Given the description of an element on the screen output the (x, y) to click on. 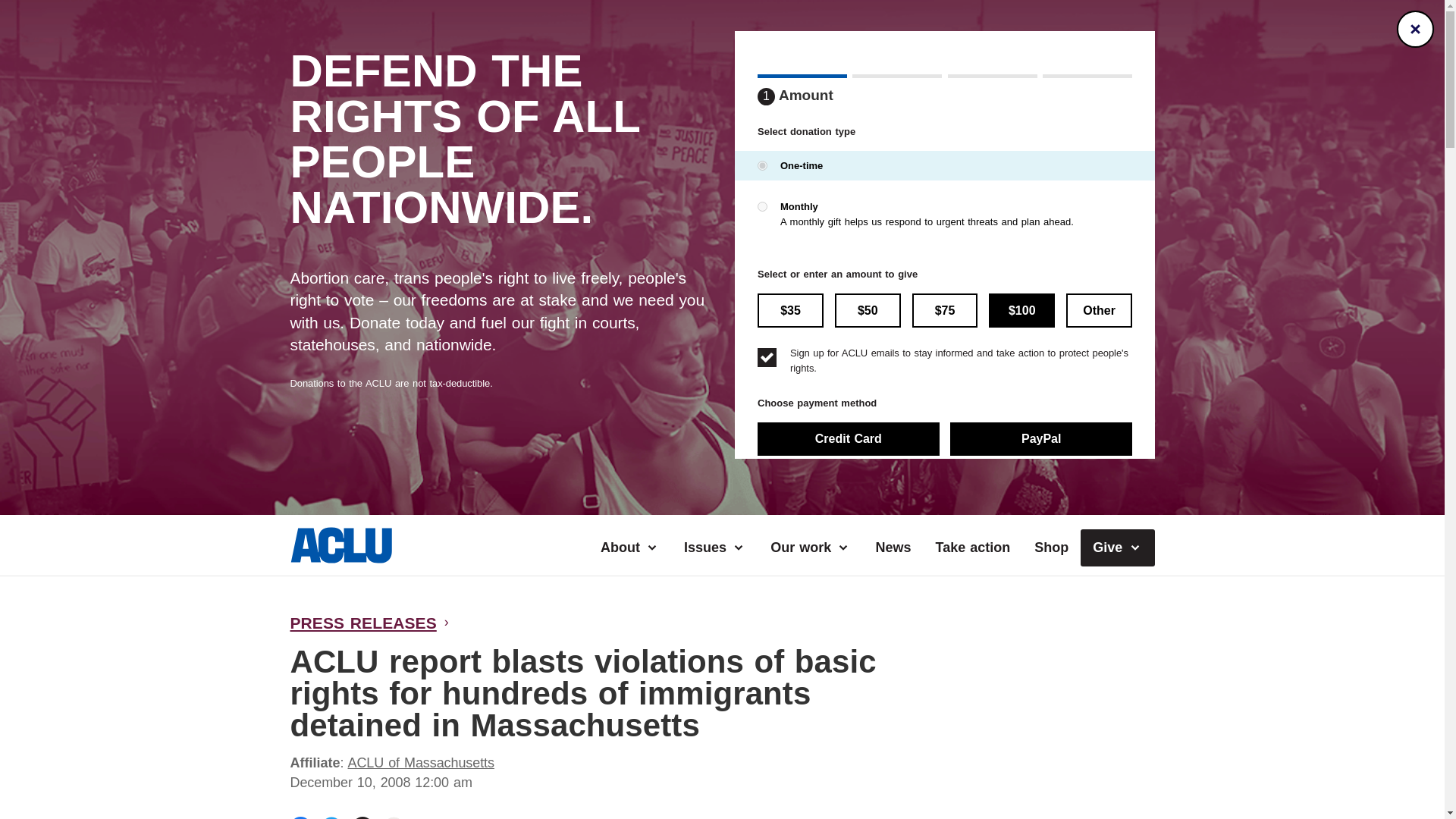
Issues (714, 547)
Share on Facebook (299, 817)
Copy (362, 817)
ACLU.org (340, 558)
Our work (810, 547)
Tweet (331, 817)
News (893, 547)
About (629, 547)
